Given the description of an element on the screen output the (x, y) to click on. 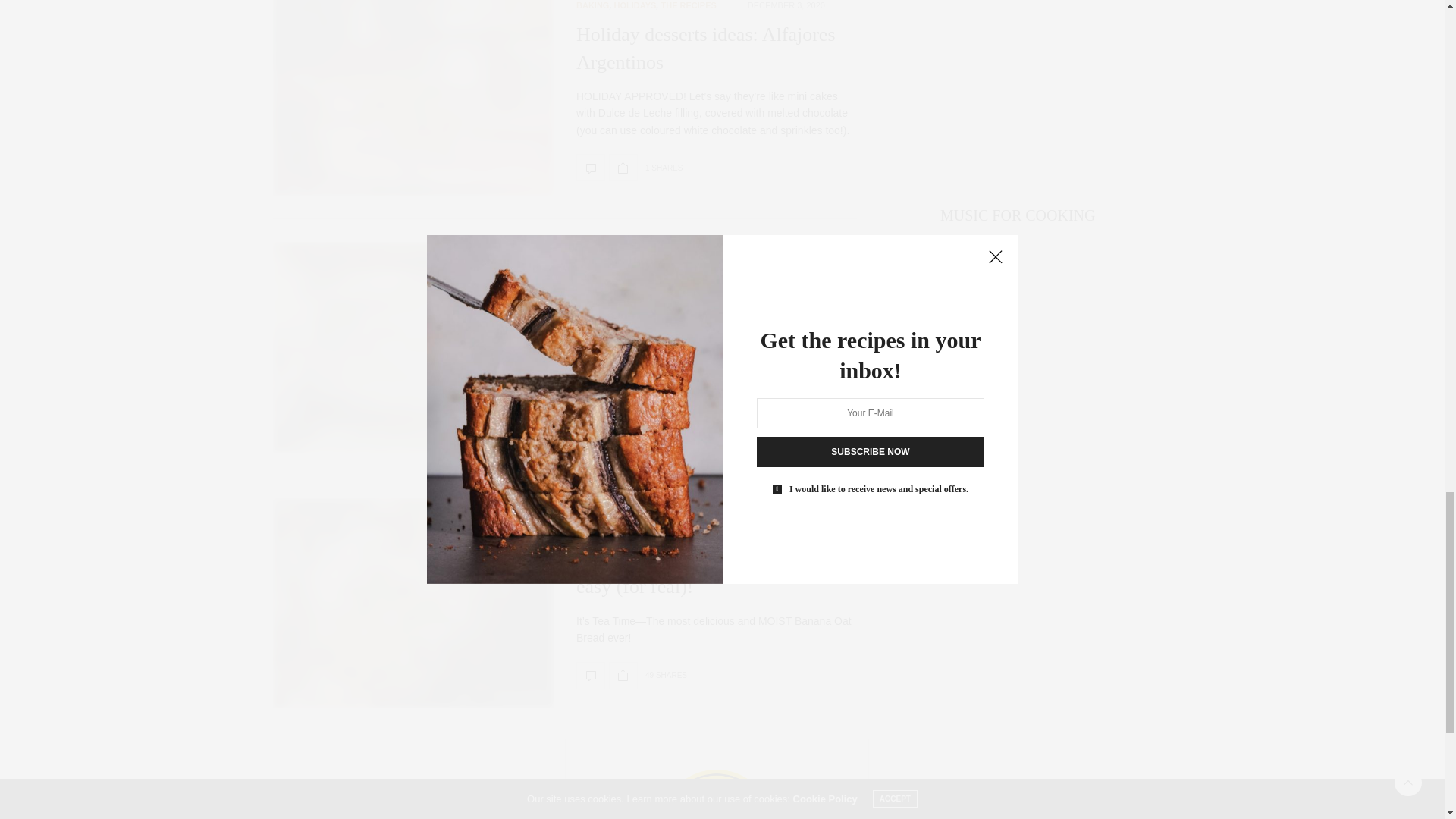
Holiday desserts ideas: Alfajores Argentinos (413, 98)
